Given the description of an element on the screen output the (x, y) to click on. 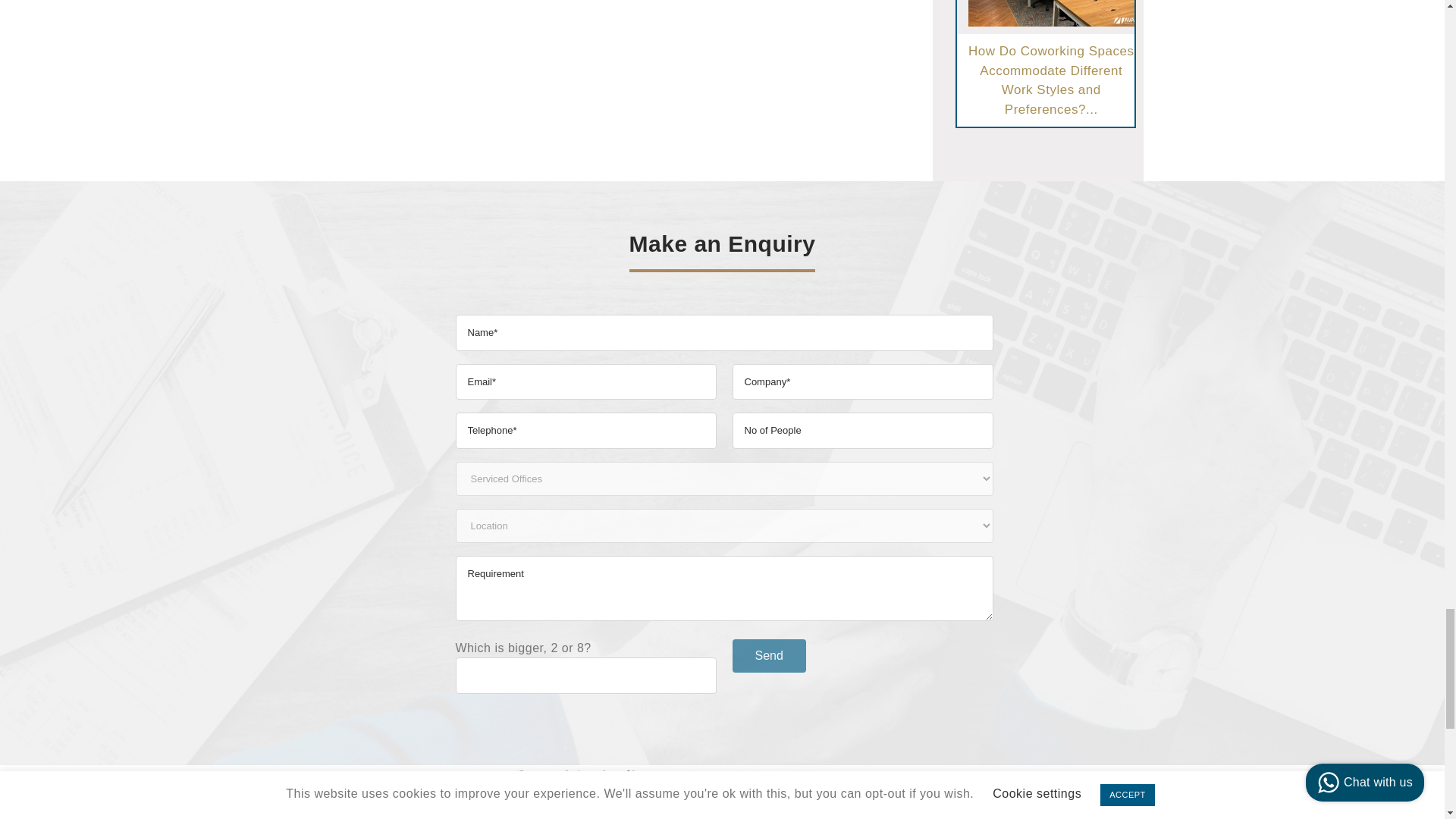
Send (769, 655)
